Given the description of an element on the screen output the (x, y) to click on. 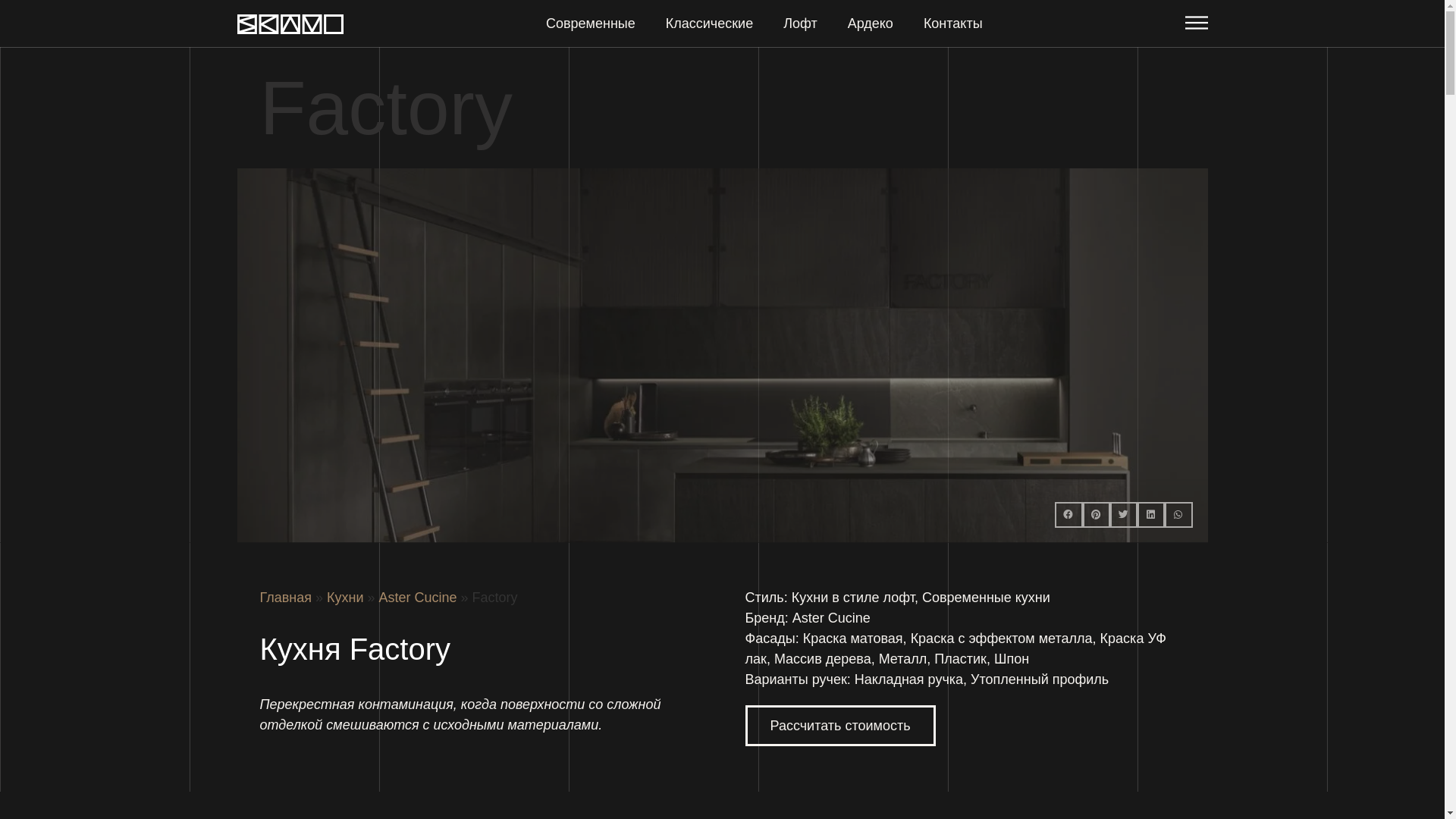
Aster Cucine Element type: text (418, 597)
Aster Cucine Element type: text (831, 617)
